Given the description of an element on the screen output the (x, y) to click on. 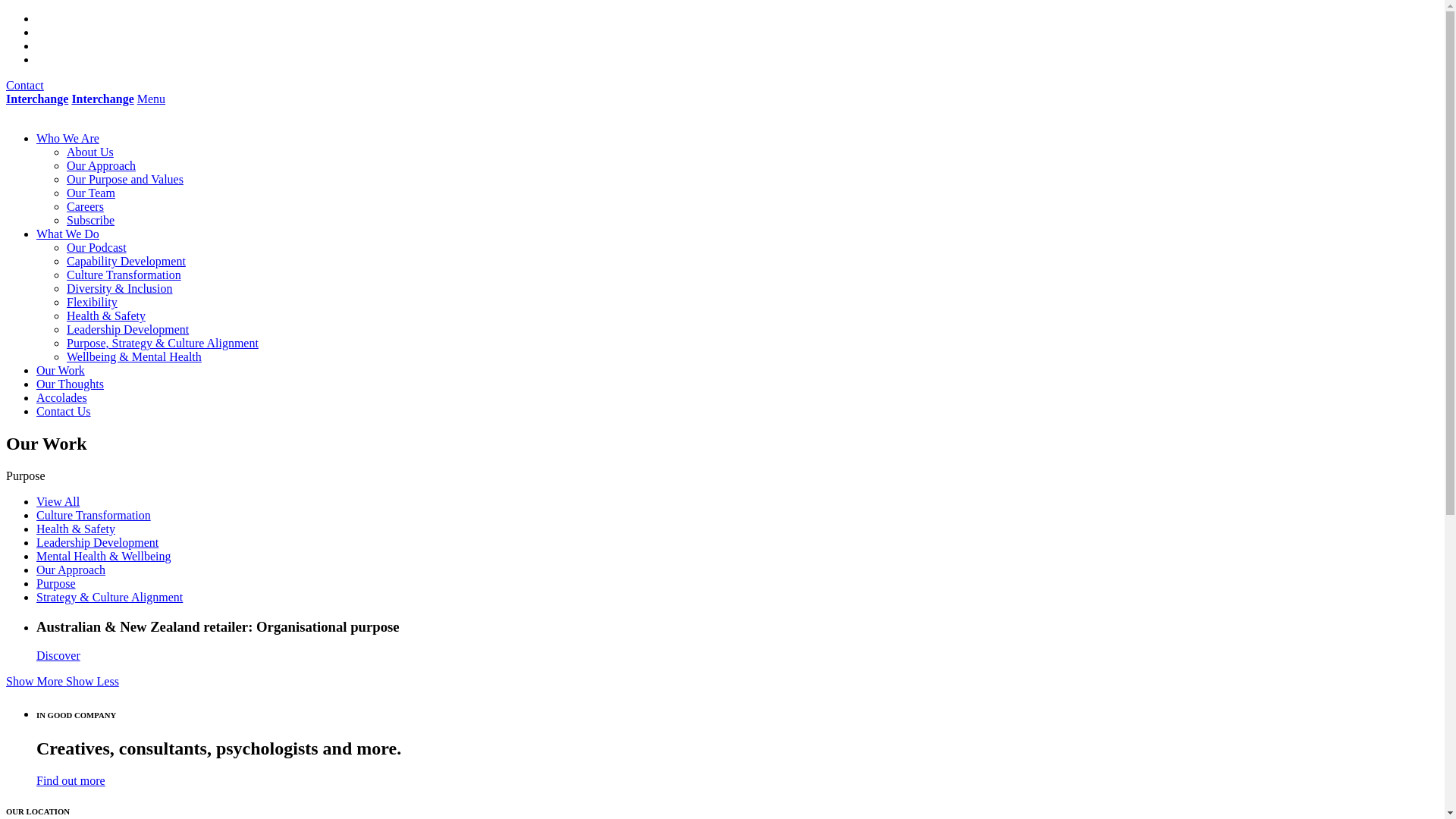
What We Do Element type: text (67, 233)
Contact Us Element type: text (63, 410)
Our Work Element type: text (60, 370)
Purpose, Strategy & Culture Alignment Element type: text (162, 342)
Subscribe Element type: text (90, 219)
View All Element type: text (57, 501)
Our Purpose and Values Element type: text (124, 178)
Show More Show Less Element type: text (62, 680)
Leadership Development Element type: text (127, 329)
Diversity & Inclusion Element type: text (119, 288)
About Us Element type: text (89, 151)
Our Thoughts Element type: text (69, 383)
Discover Element type: text (58, 655)
Careers Element type: text (84, 206)
Health & Safety Element type: text (75, 528)
Menu Element type: text (151, 98)
Interchange Element type: text (102, 98)
Culture Transformation Element type: text (93, 514)
Find out more Element type: text (70, 780)
Capability Development Element type: text (125, 260)
Our Team Element type: text (90, 192)
Who We Are Element type: text (67, 137)
Contact Element type: text (24, 84)
Our Podcast Element type: text (96, 247)
Health & Safety Element type: text (105, 315)
Our Approach Element type: text (100, 165)
Wellbeing & Mental Health Element type: text (133, 356)
Strategy & Culture Alignment Element type: text (109, 596)
Mental Health & Wellbeing Element type: text (103, 555)
Interchange Element type: text (37, 98)
Our Approach Element type: text (70, 569)
Purpose Element type: text (55, 583)
Accolades Element type: text (61, 397)
Flexibility Element type: text (91, 301)
Culture Transformation Element type: text (123, 274)
Leadership Development Element type: text (97, 542)
